Given the description of an element on the screen output the (x, y) to click on. 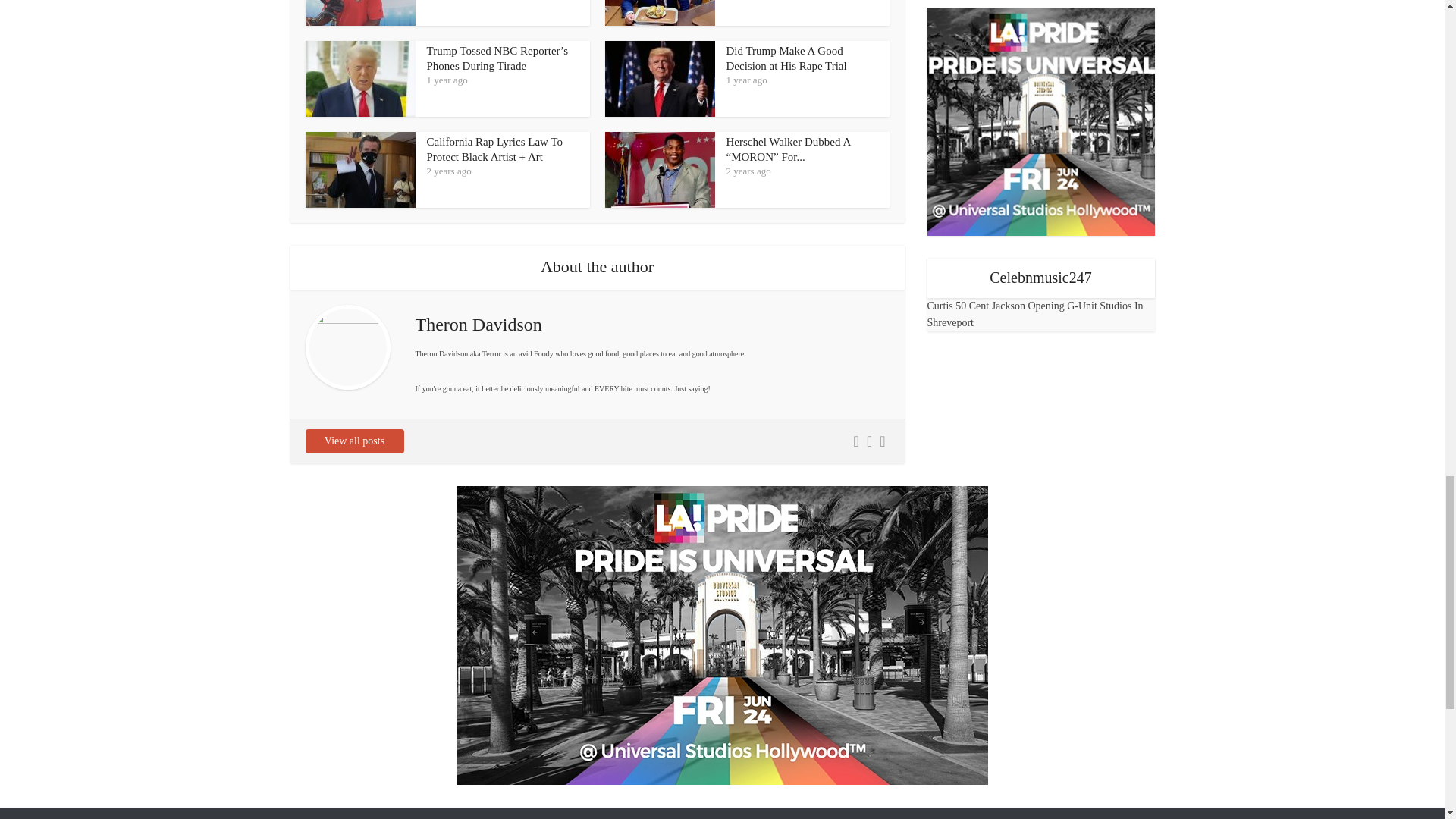
View all posts (353, 441)
Did Trump Make A Good Decision at His Rape Trial (786, 58)
Did Trump Make A Good Decision at His Rape Trial (786, 58)
